Given the description of an element on the screen output the (x, y) to click on. 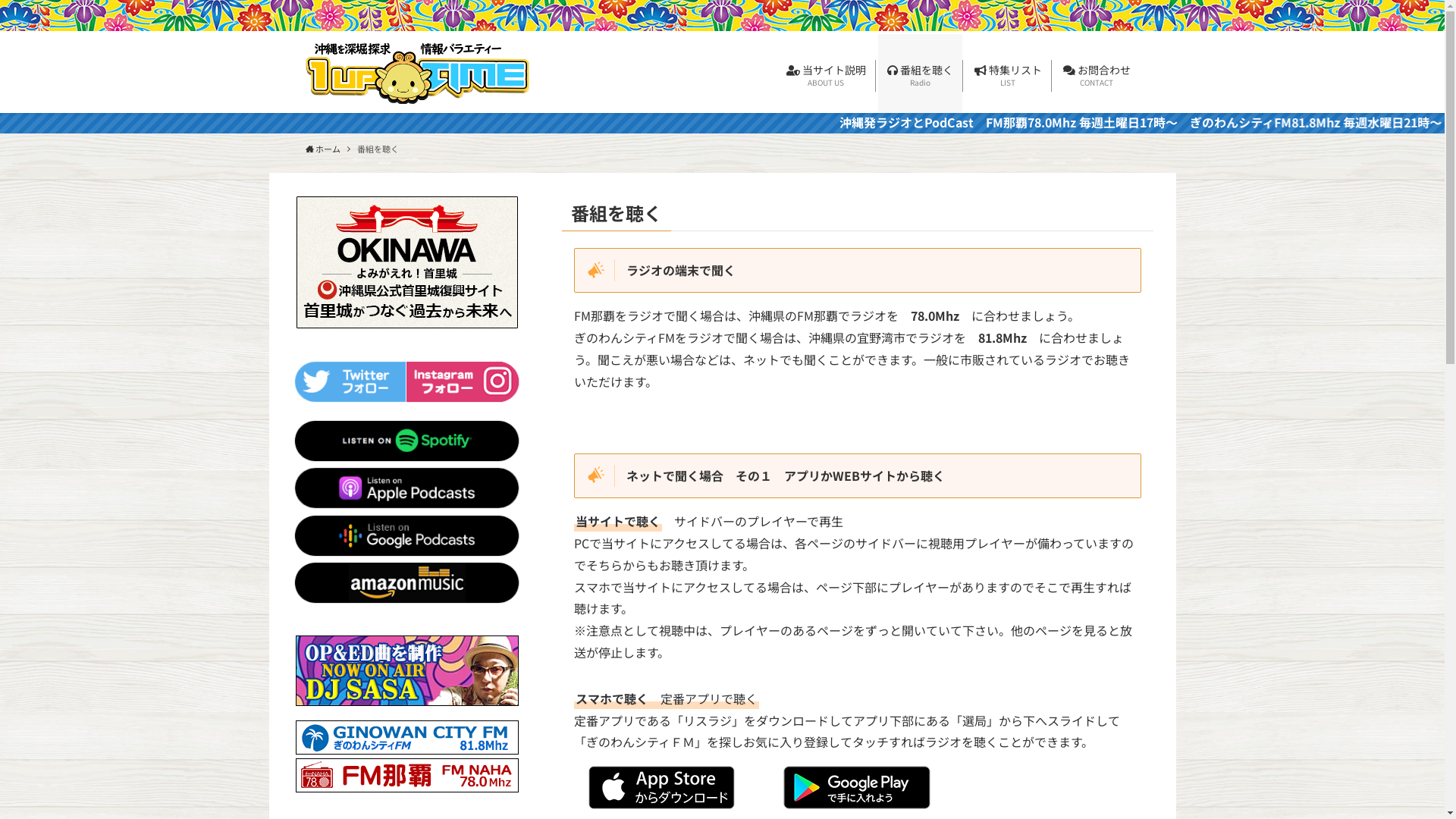
search Element type: text (921, 421)
1upTIME Element type: hover (416, 73)
